Given the description of an element on the screen output the (x, y) to click on. 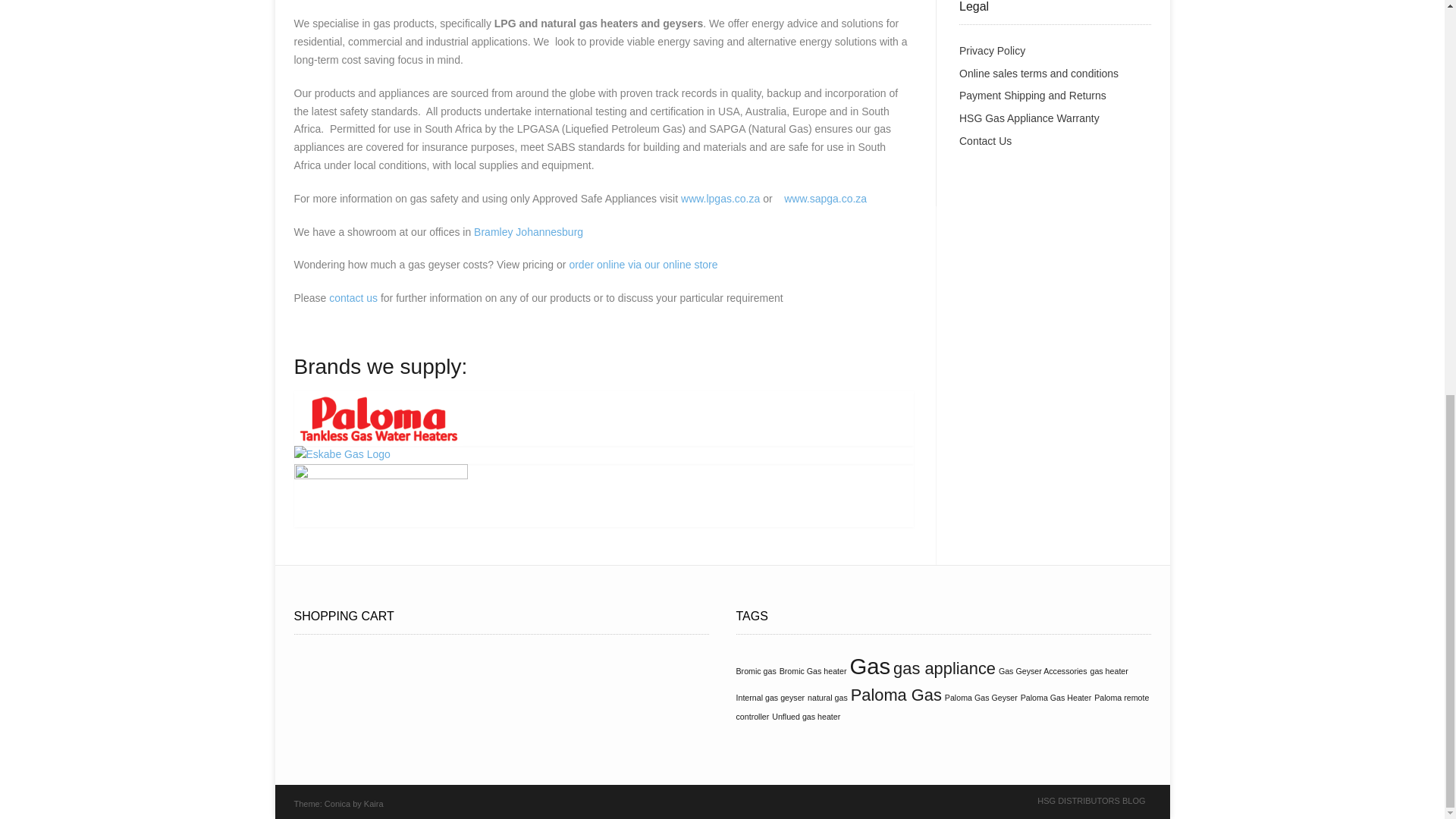
Bramley Johannesburg (528, 232)
Gas (868, 665)
Bromic gas (755, 670)
Bromic Gas heater (812, 670)
Online sales terms and conditions (1038, 73)
Privacy Policy (992, 50)
HSG Gas Appliance Warranty (1029, 118)
www.lpgas.co.za (720, 198)
Payment Shipping and Returns (1032, 95)
www.sapga.co.za (825, 198)
